Given the description of an element on the screen output the (x, y) to click on. 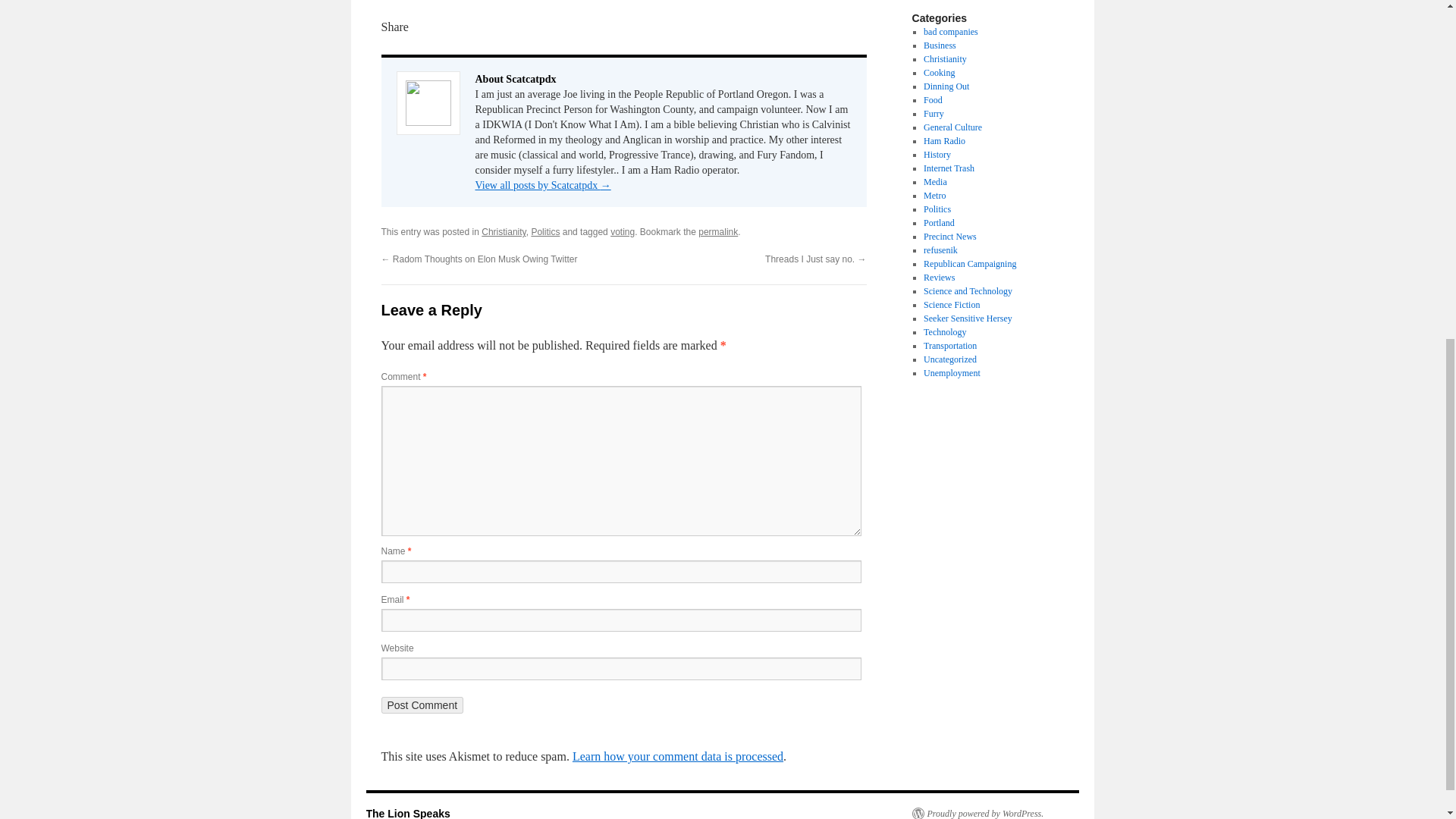
permalink (718, 231)
General Culture (952, 127)
Precinct News (949, 235)
bad companies (950, 31)
Business (939, 45)
Christianity (944, 59)
Learn how your comment data is processed (677, 756)
Republican Campaigning (969, 263)
Media (935, 181)
Metro (933, 195)
History (936, 154)
Post Comment (421, 704)
voting (622, 231)
Portland (939, 222)
